Given the description of an element on the screen output the (x, y) to click on. 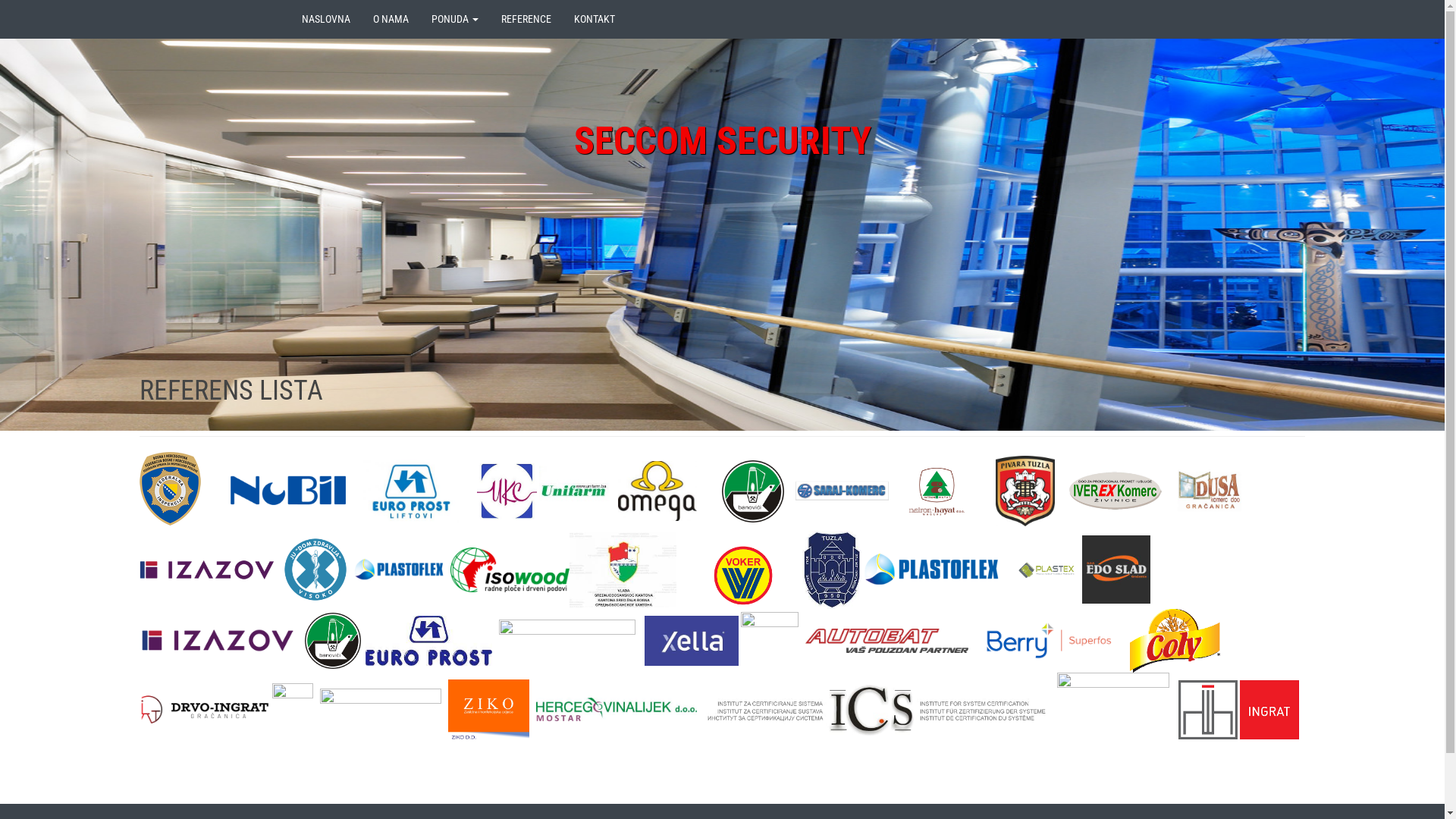
KONTAKT Element type: text (594, 18)
REFERENCE Element type: text (525, 18)
PONUDA Element type: text (454, 18)
NASLOVNA Element type: text (324, 18)
SECCOM SECURITY Element type: text (721, 141)
O NAMA Element type: text (389, 18)
